Given the description of an element on the screen output the (x, y) to click on. 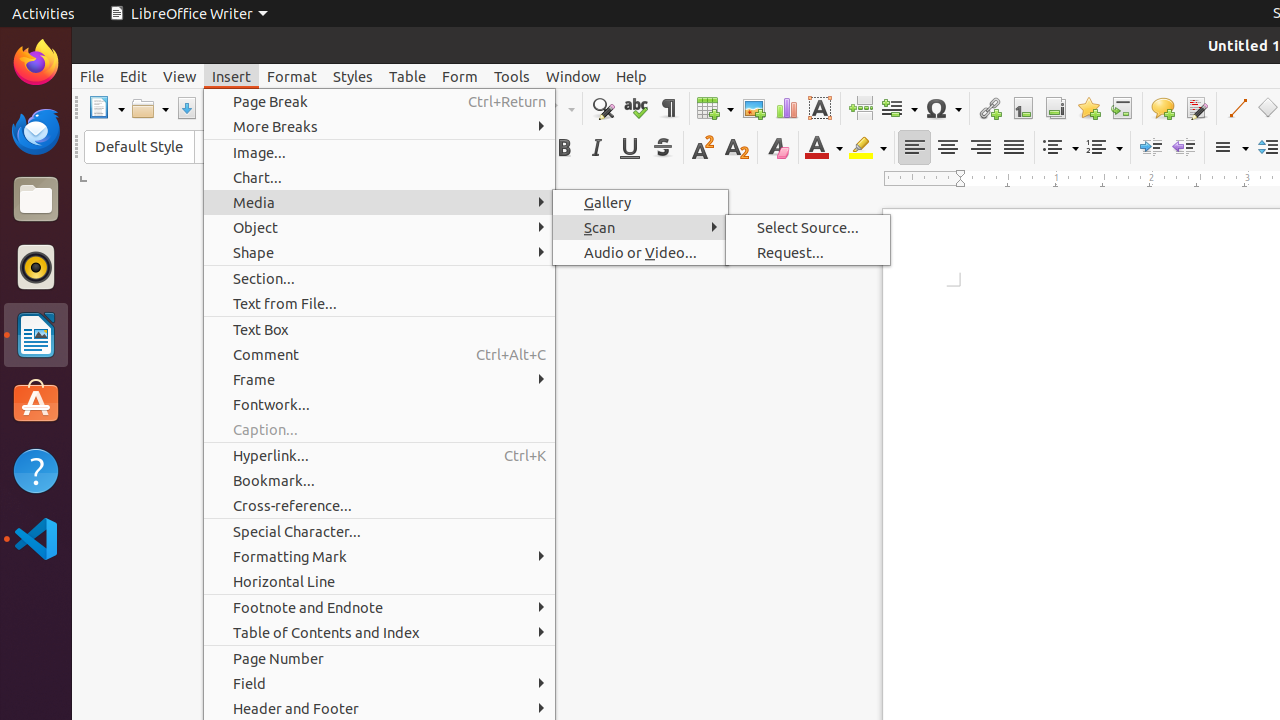
Open Element type: push-button (150, 108)
Track Changes Functions Element type: toggle-button (1195, 108)
Table Element type: menu (407, 76)
Special Character... Element type: menu-item (379, 531)
Chart Element type: push-button (786, 108)
